Given the description of an element on the screen output the (x, y) to click on. 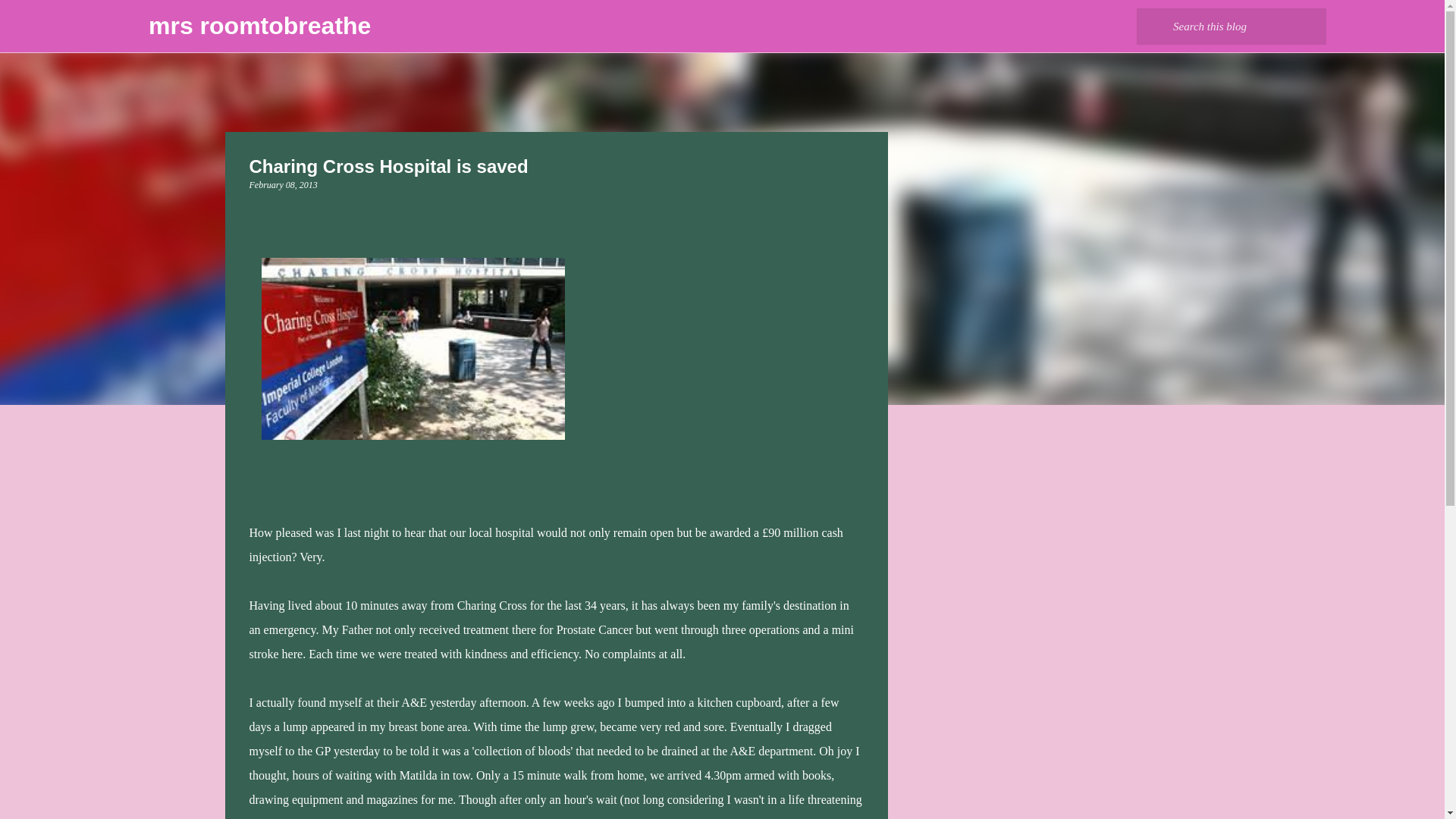
mrs roomtobreathe (259, 25)
February 08, 2013 (282, 184)
permanent link (282, 184)
